Given the description of an element on the screen output the (x, y) to click on. 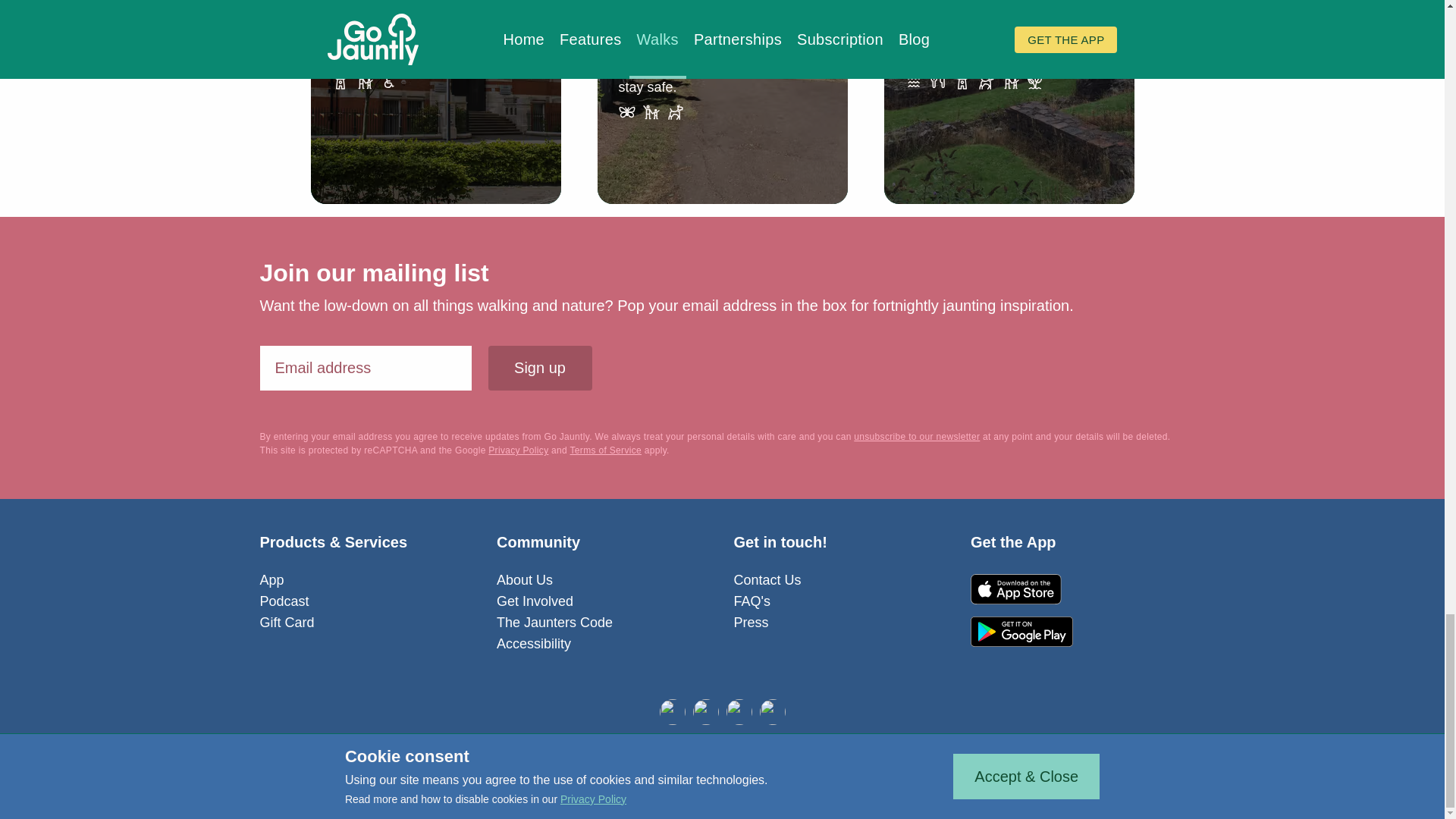
Email us (739, 711)
Follow us on Twitter (706, 711)
Follow us on Facebook (672, 711)
Follow us on Instagram (773, 711)
Download on the App Store (1022, 589)
Get it on Google Play (1022, 631)
